Given the description of an element on the screen output the (x, y) to click on. 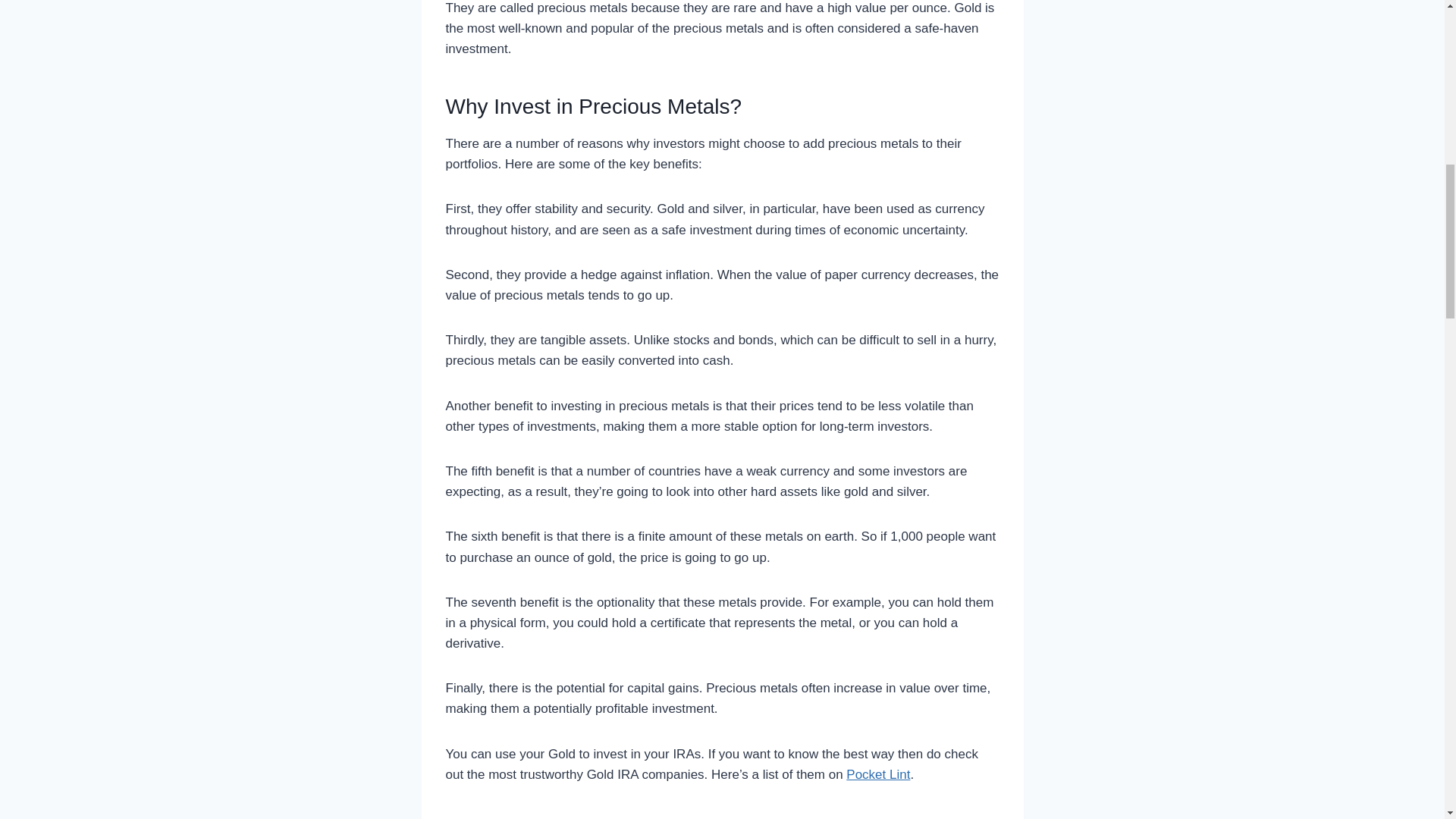
Pocket Lint (877, 774)
Pocket Lint (877, 774)
